Given the description of an element on the screen output the (x, y) to click on. 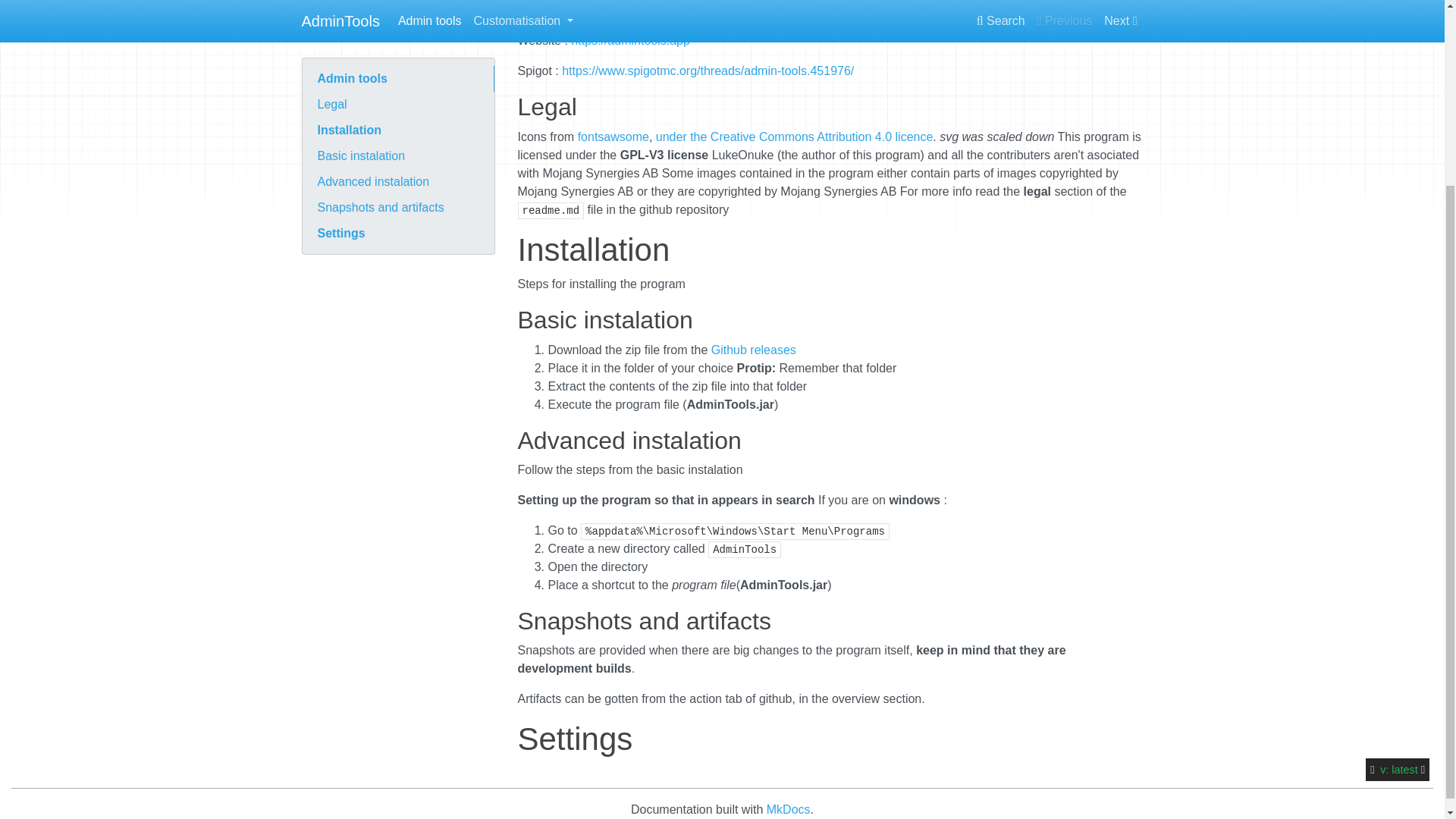
MkDocs (788, 809)
Settings (397, 6)
under the Creative Commons Attribution 4.0 licence (794, 136)
fontsawsome (613, 136)
Github releases (753, 349)
